Given the description of an element on the screen output the (x, y) to click on. 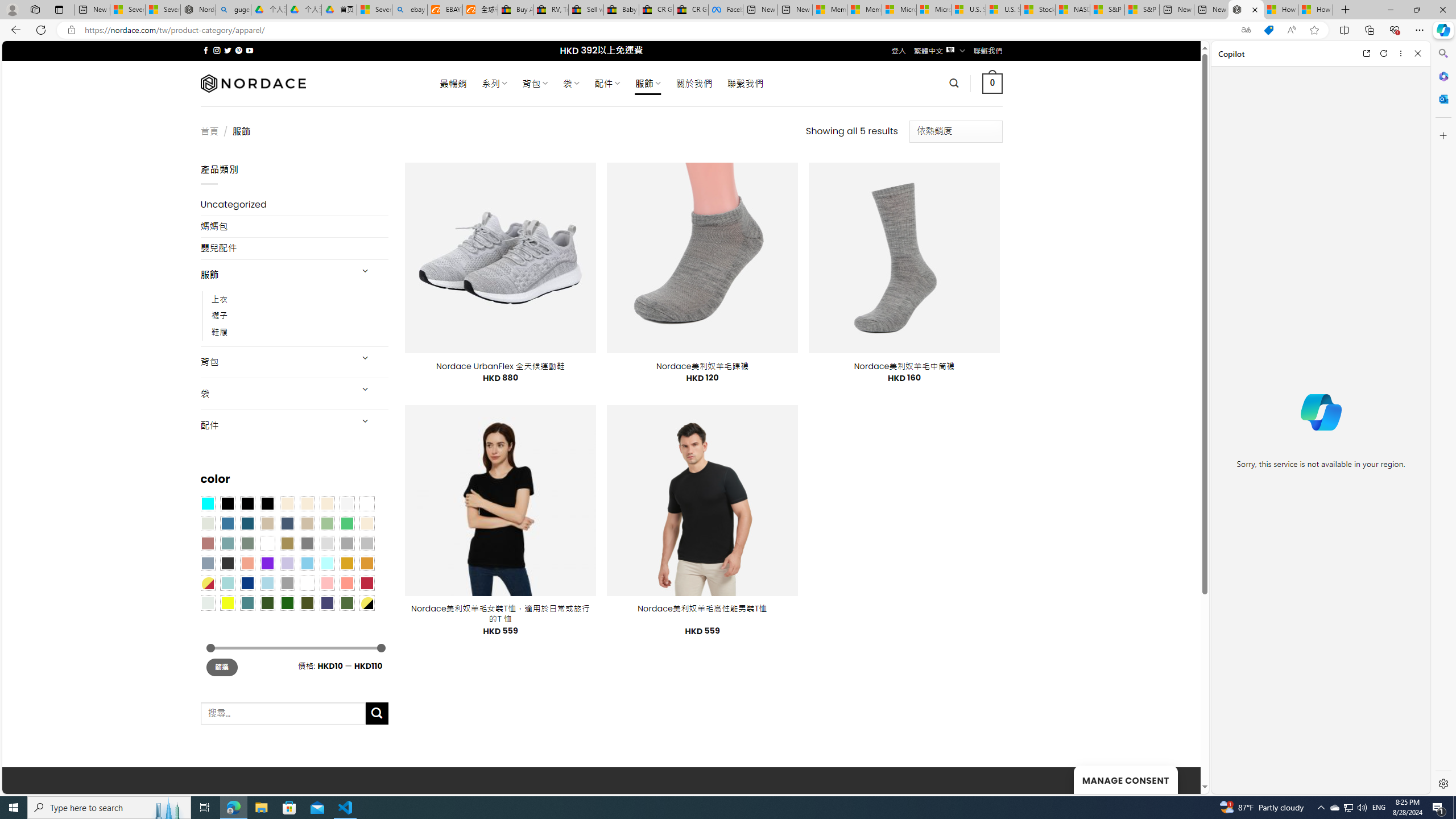
Go to top (1177, 777)
